Given the description of an element on the screen output the (x, y) to click on. 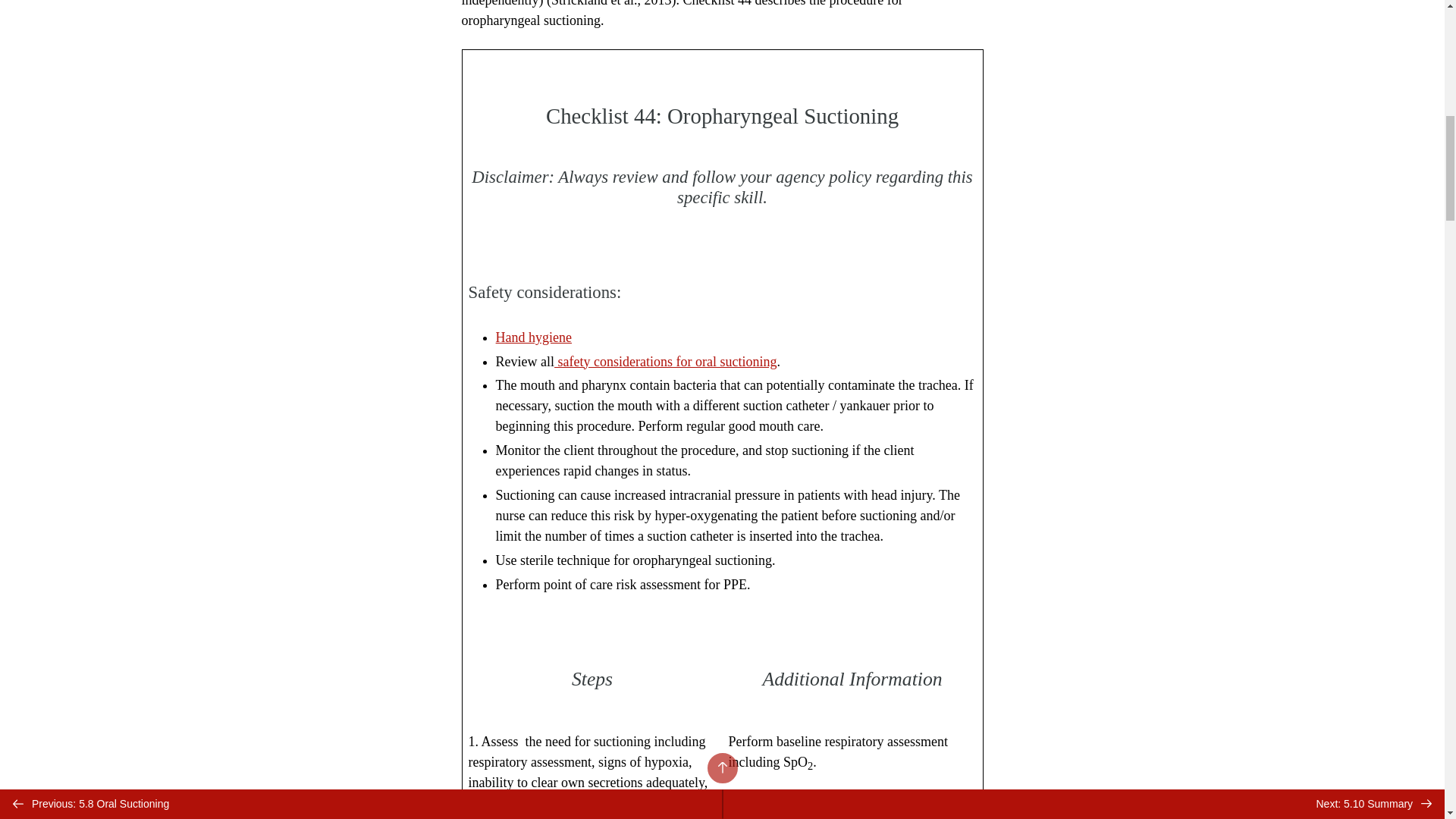
Hand hygiene (534, 337)
safety considerations for oral suctioning (665, 361)
